Given the description of an element on the screen output the (x, y) to click on. 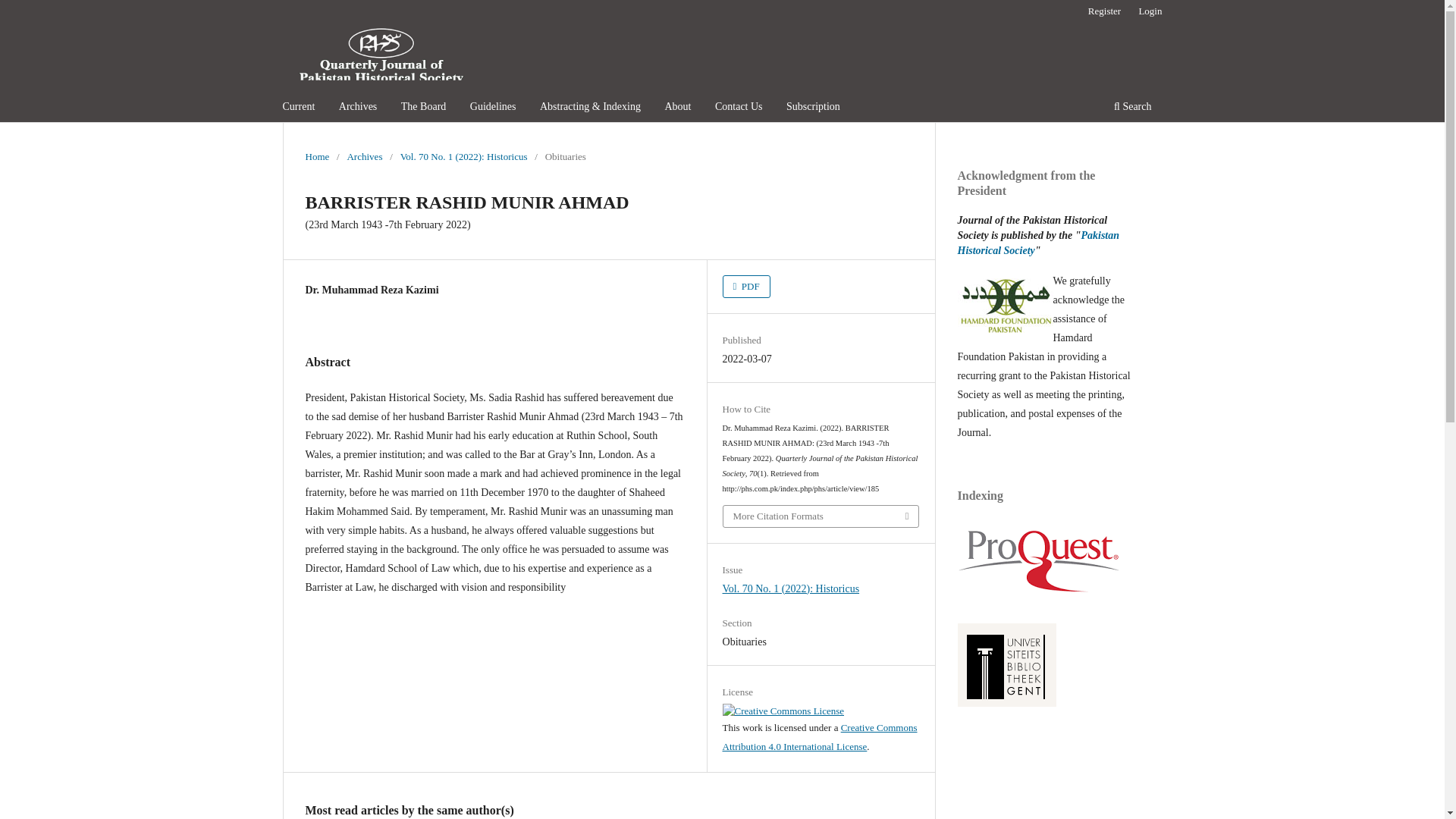
Login (1150, 11)
Contact Us (739, 108)
Archives (357, 108)
Register (1104, 11)
Archives (363, 156)
The Board (423, 108)
Guidelines (492, 108)
PDF (746, 286)
Home (316, 156)
Search (1132, 108)
